Given the description of an element on the screen output the (x, y) to click on. 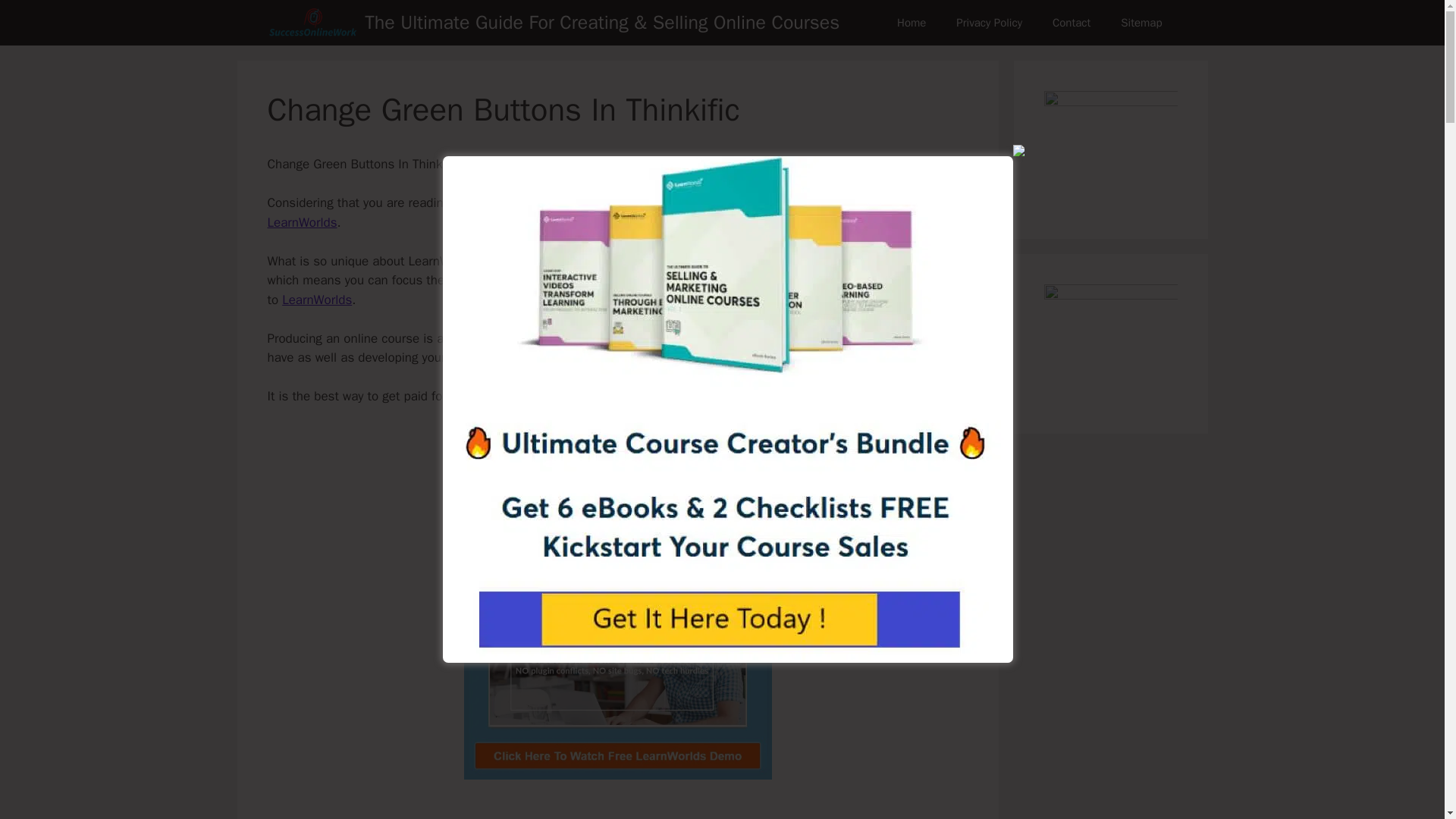
Contact (1070, 22)
Thinkific users (749, 163)
Close (1019, 150)
Privacy Policy (988, 22)
LearnWorlds (317, 299)
Home (911, 22)
Sitemap (1140, 22)
LearnWorlds (301, 222)
